Given the description of an element on the screen output the (x, y) to click on. 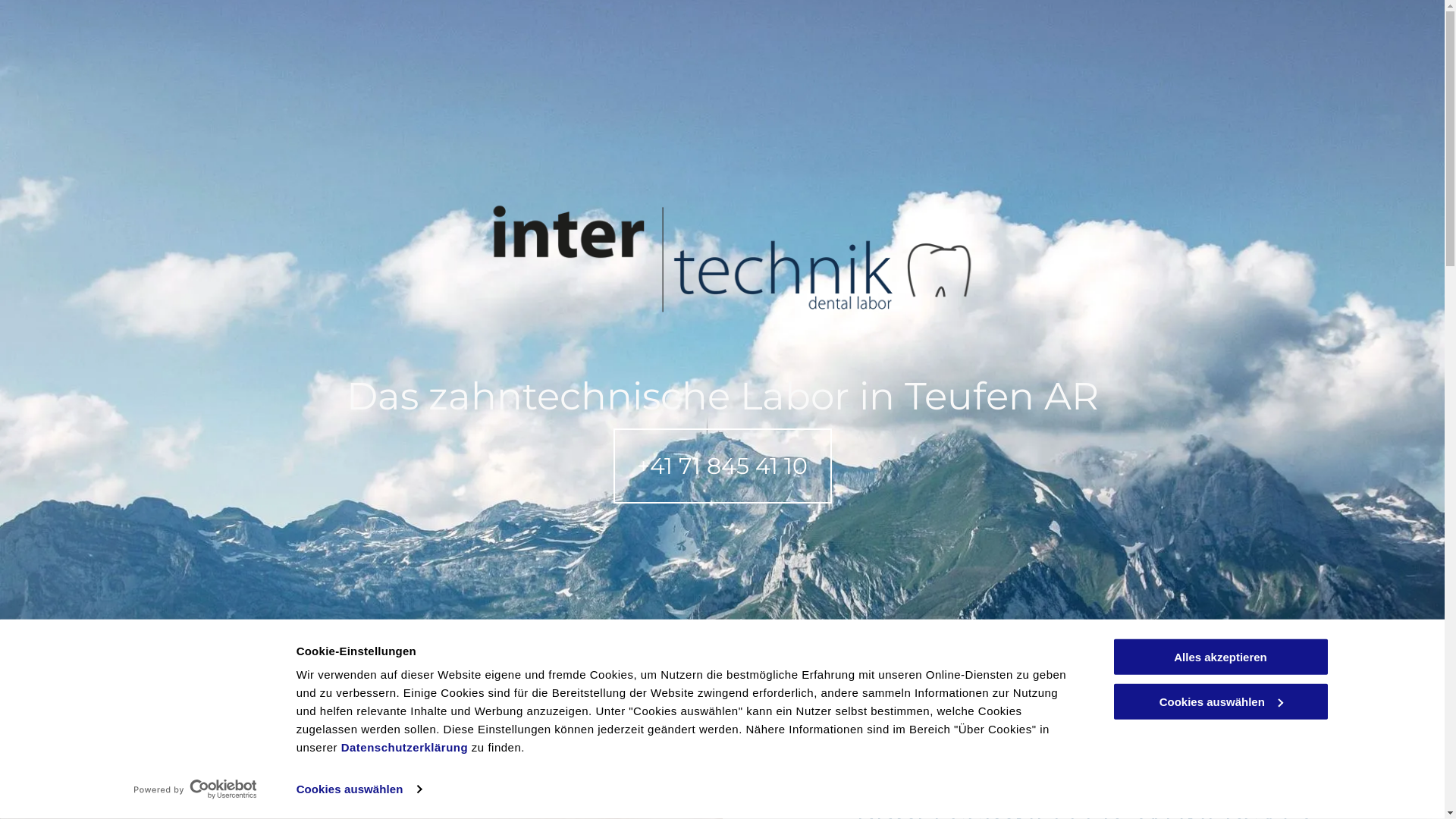
+41 71 845 41 10 Element type: text (721, 465)
Alles akzeptieren Element type: text (1219, 656)
